Given the description of an element on the screen output the (x, y) to click on. 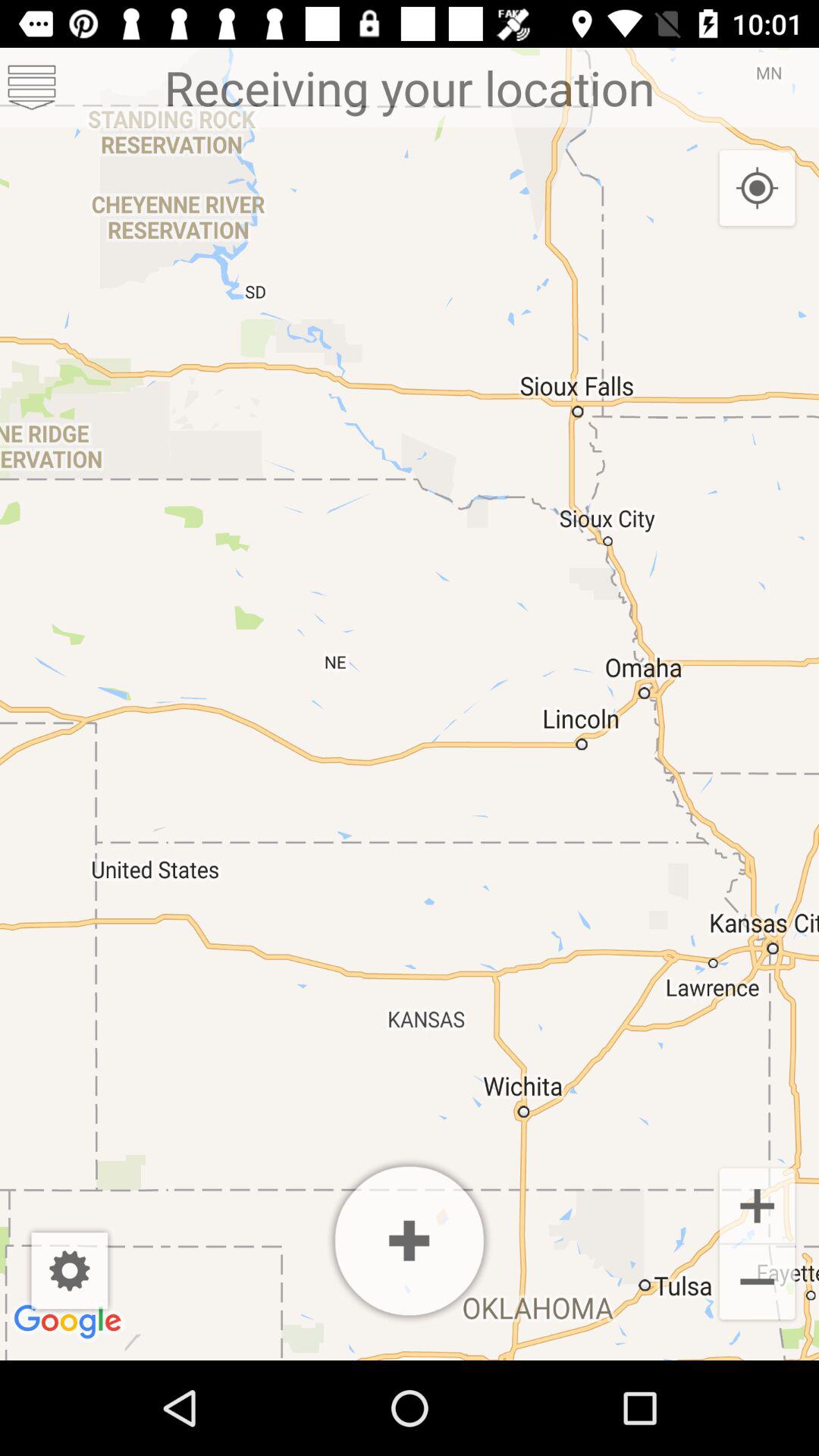
settings option (31, 87)
